Given the description of an element on the screen output the (x, y) to click on. 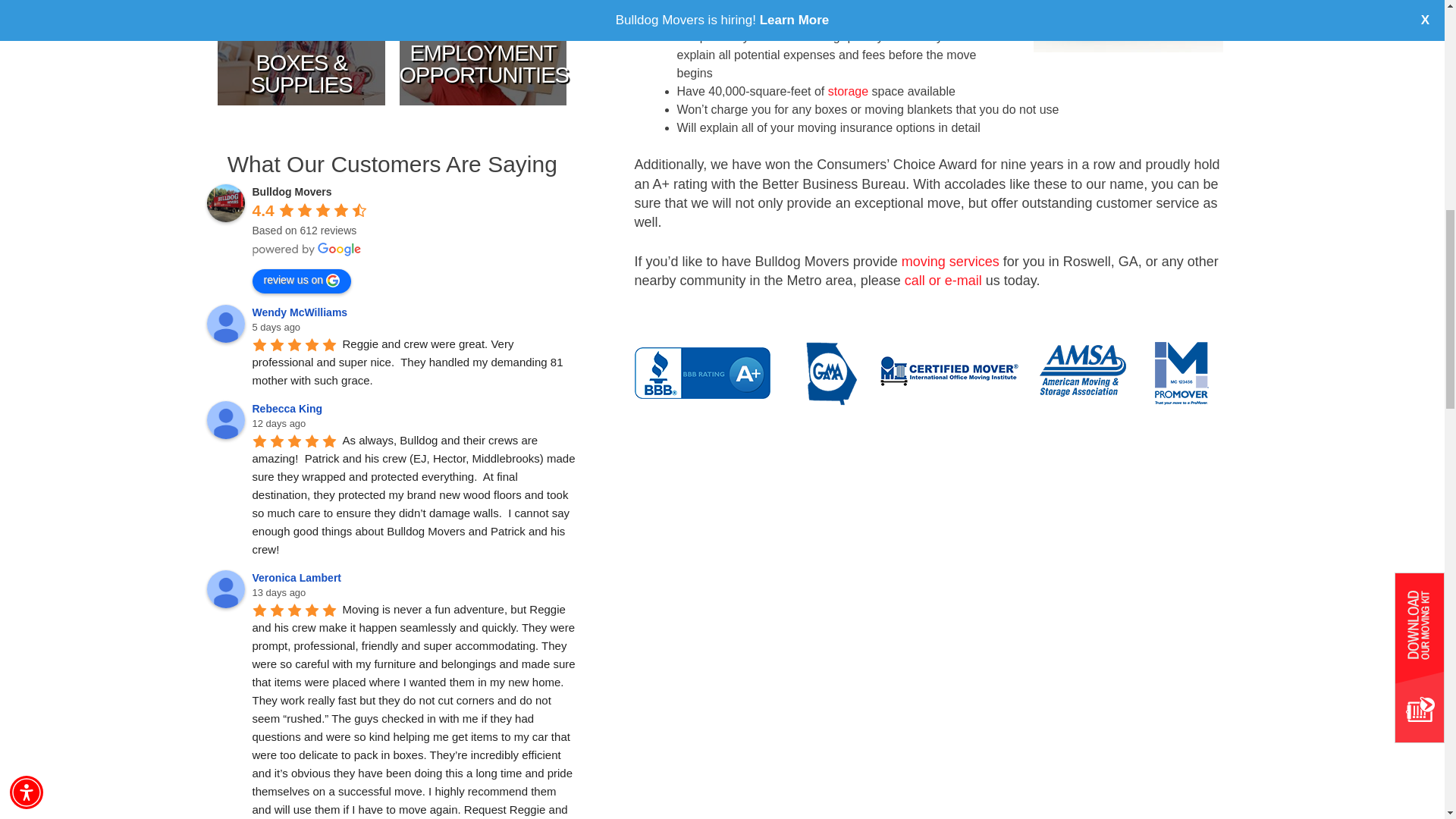
Veronica Lambert (225, 589)
Bulldog Movers (225, 202)
Wendy McWilliams (225, 323)
powered by Google (306, 249)
Rebecca King (225, 419)
